Given the description of an element on the screen output the (x, y) to click on. 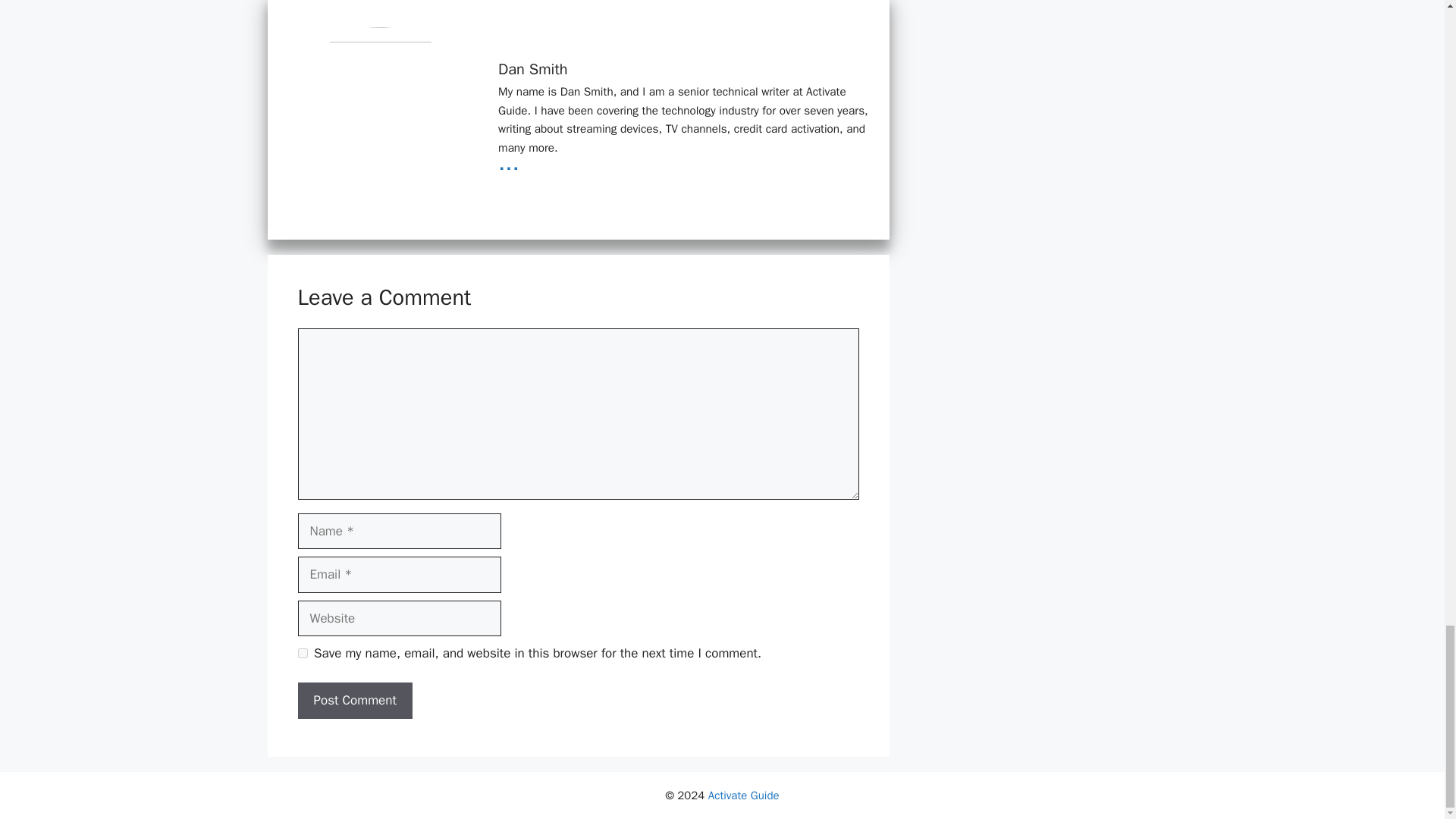
yes (302, 653)
Post Comment (354, 700)
Post Comment (354, 700)
